Given the description of an element on the screen output the (x, y) to click on. 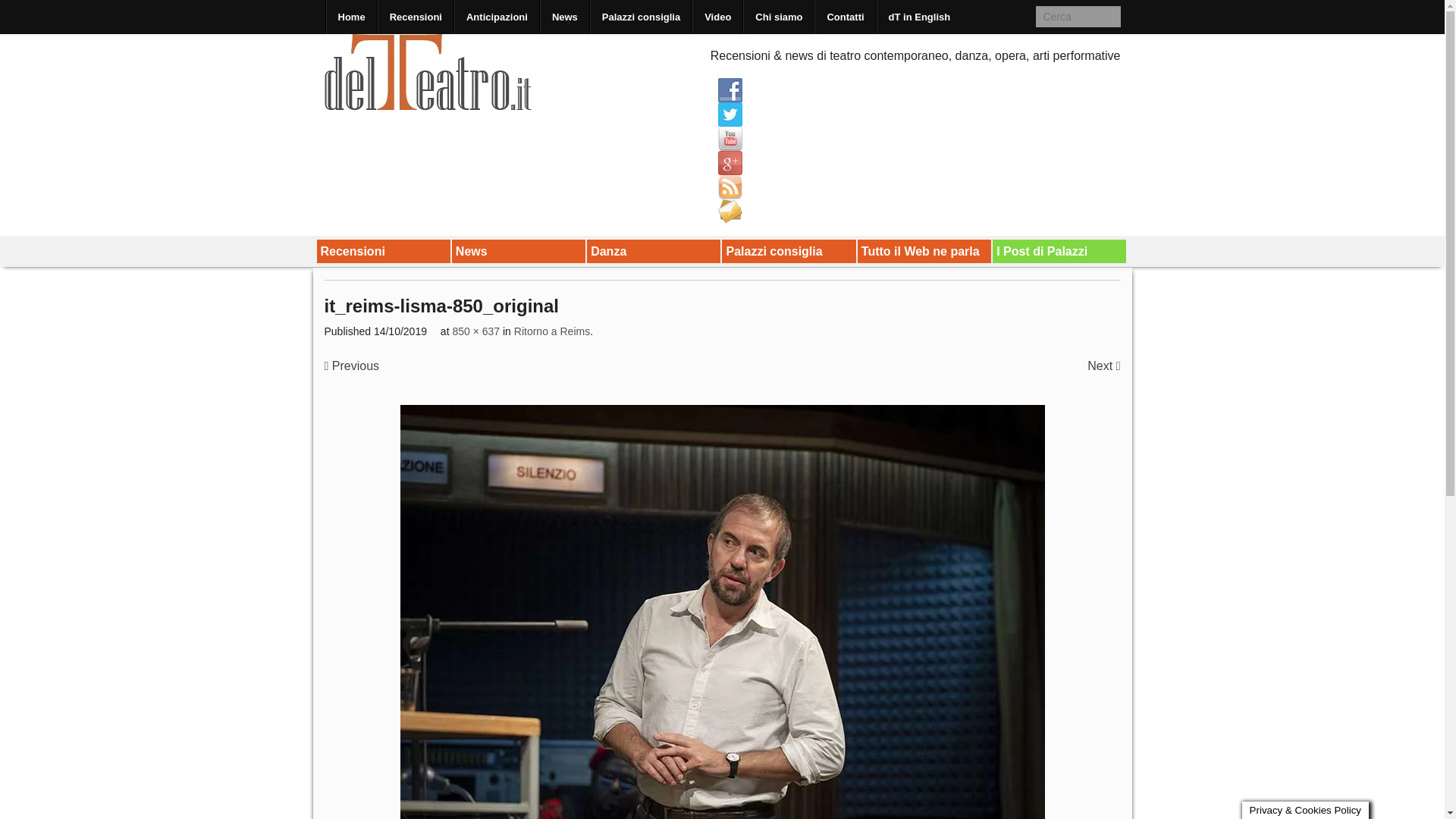
Anticipazioni (496, 17)
dT in English (919, 17)
Seguici su Twitter (729, 114)
Ritorno a Reims (551, 331)
Tutto il Web ne parla (924, 251)
Contatti (845, 17)
Link to full-size image (475, 331)
Video (717, 17)
Seguici su Facebook (729, 89)
Cerca (23, 10)
Return to Ritorno a Reims (551, 331)
Seguici su RSS (729, 187)
Recensioni (383, 251)
Home (350, 17)
Seguici su YouTube (729, 138)
